Given the description of an element on the screen output the (x, y) to click on. 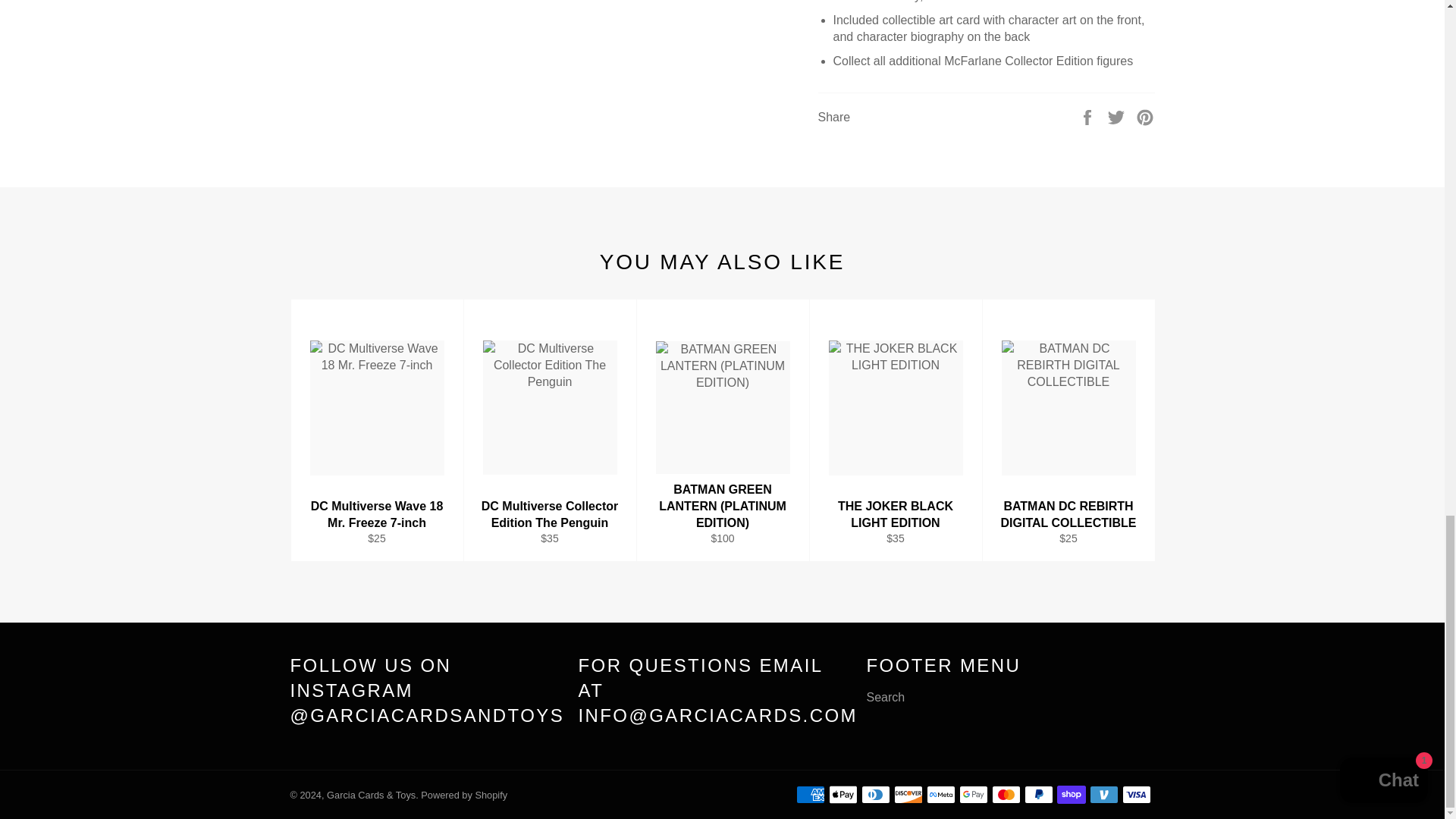
Tweet on Twitter (1117, 115)
Pin on Pinterest (1144, 115)
Share on Facebook (1088, 115)
